Given the description of an element on the screen output the (x, y) to click on. 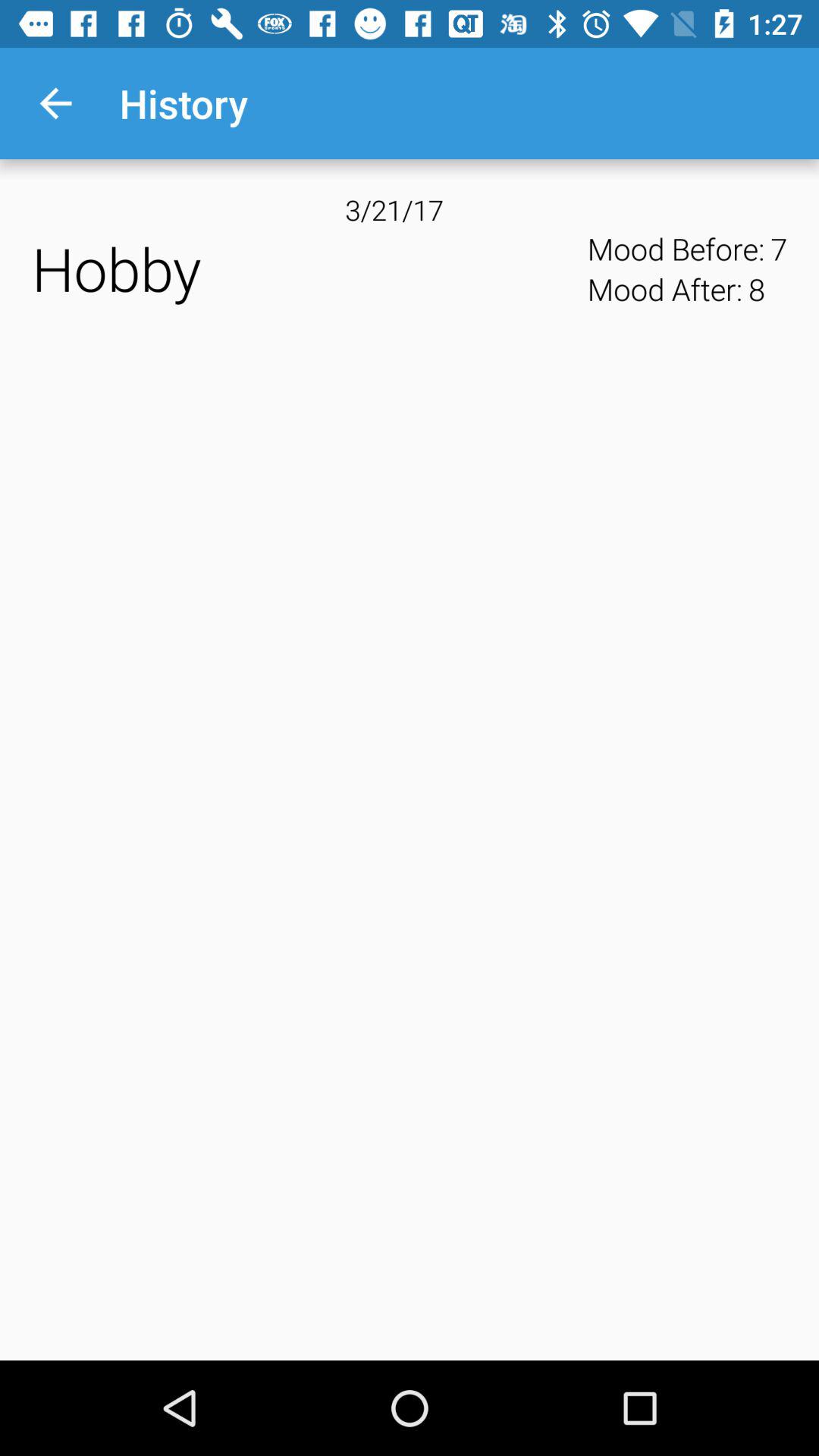
scroll until 8 app (756, 289)
